Given the description of an element on the screen output the (x, y) to click on. 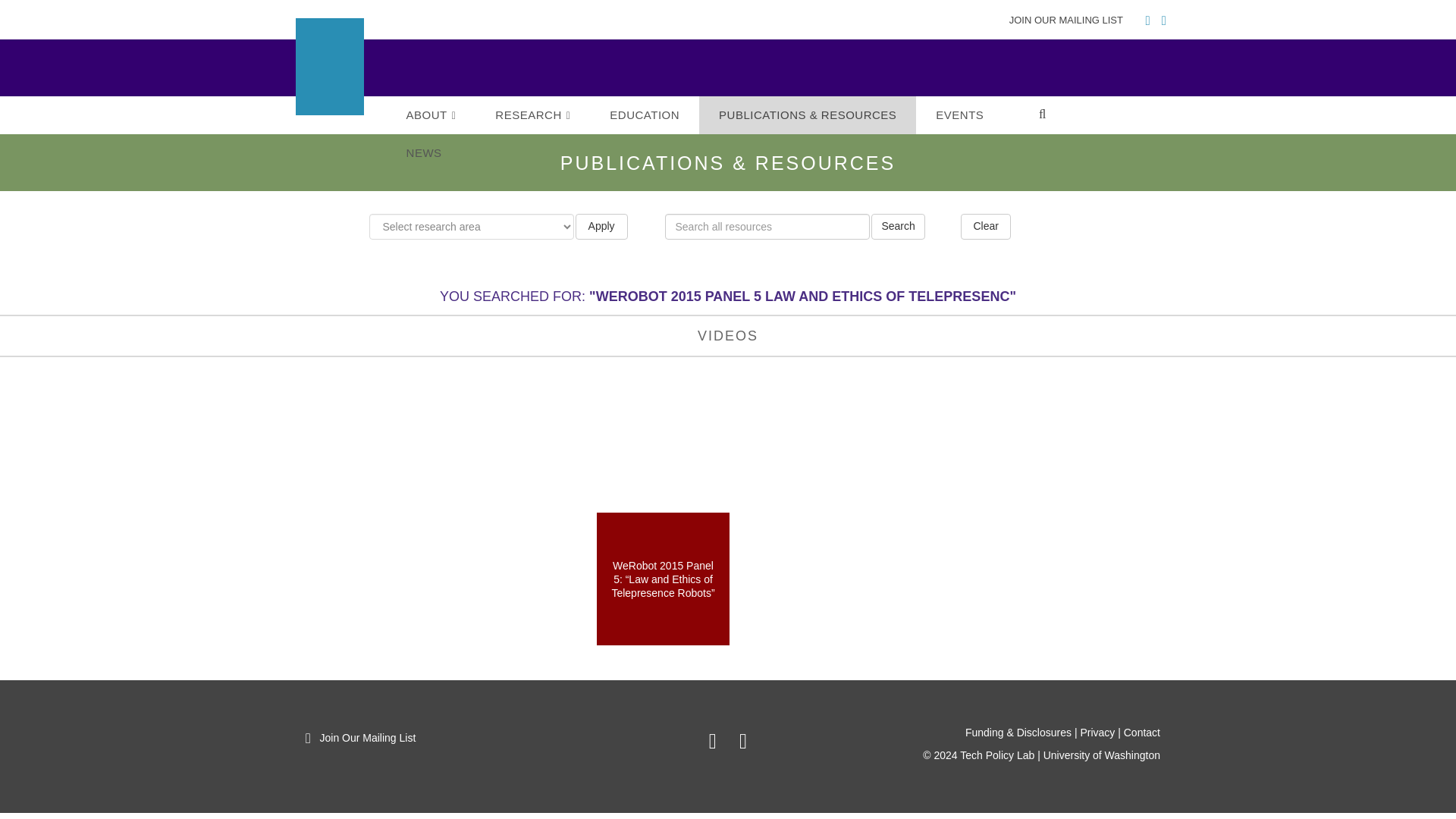
EVENTS (959, 115)
Home (1140, 75)
RESEARCH (532, 115)
University of Washington Home (492, 72)
University of Washington (1140, 75)
Search (897, 226)
NEWS (424, 152)
Home (492, 72)
ABOUT (431, 115)
JOIN OUR MAILING LIST (1069, 19)
Search (897, 226)
Clear (985, 226)
 Apply  (601, 226)
EDUCATION (643, 115)
Clear (985, 226)
